Given the description of an element on the screen output the (x, y) to click on. 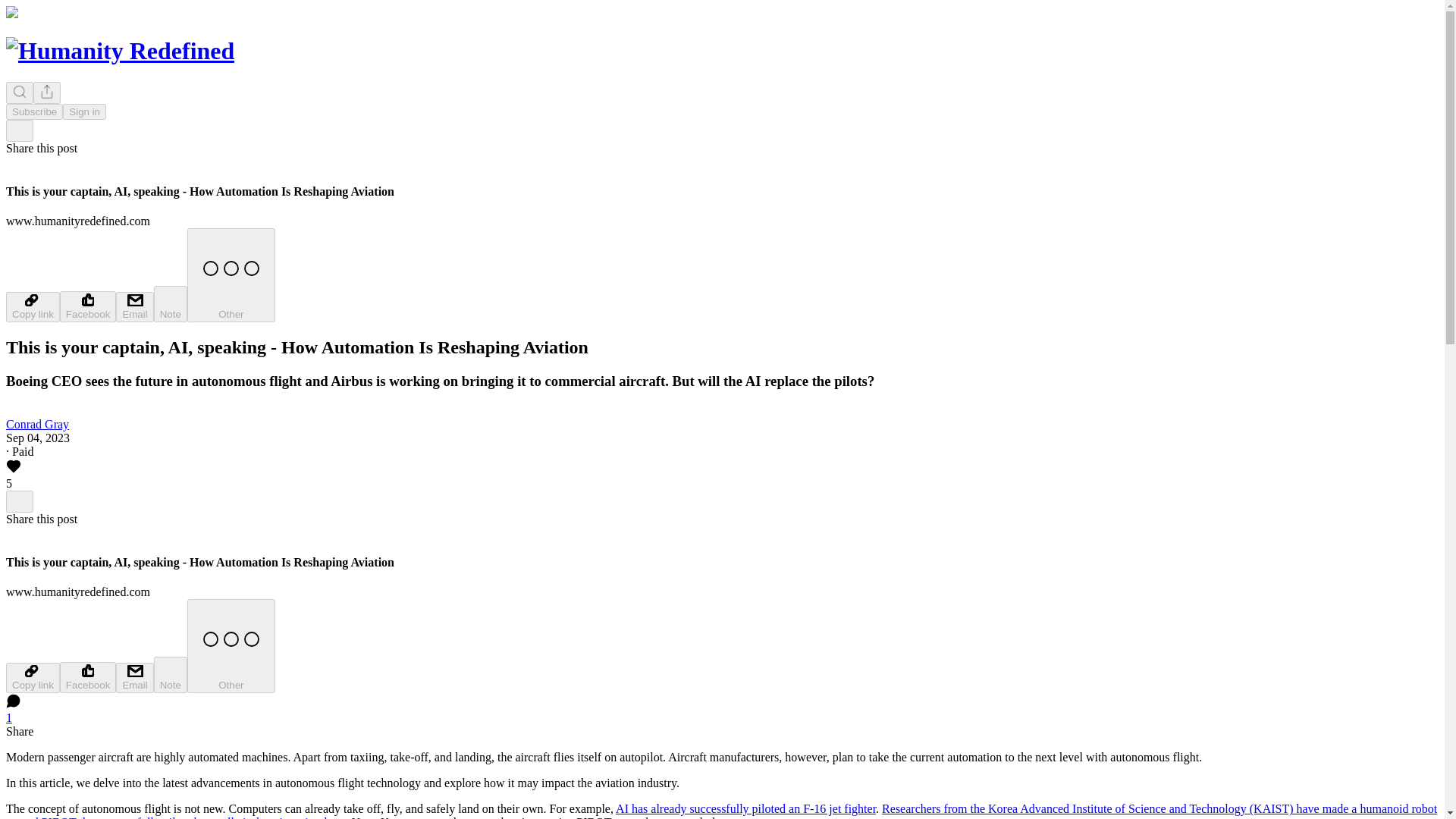
Other (231, 275)
AI has already successfully piloted an F-16 jet fighter (745, 808)
Facebook (87, 306)
Note (170, 303)
Subscribe (33, 111)
Email (134, 677)
Sign in (84, 111)
Copy link (32, 306)
Other (231, 645)
Email (134, 306)
